Given the description of an element on the screen output the (x, y) to click on. 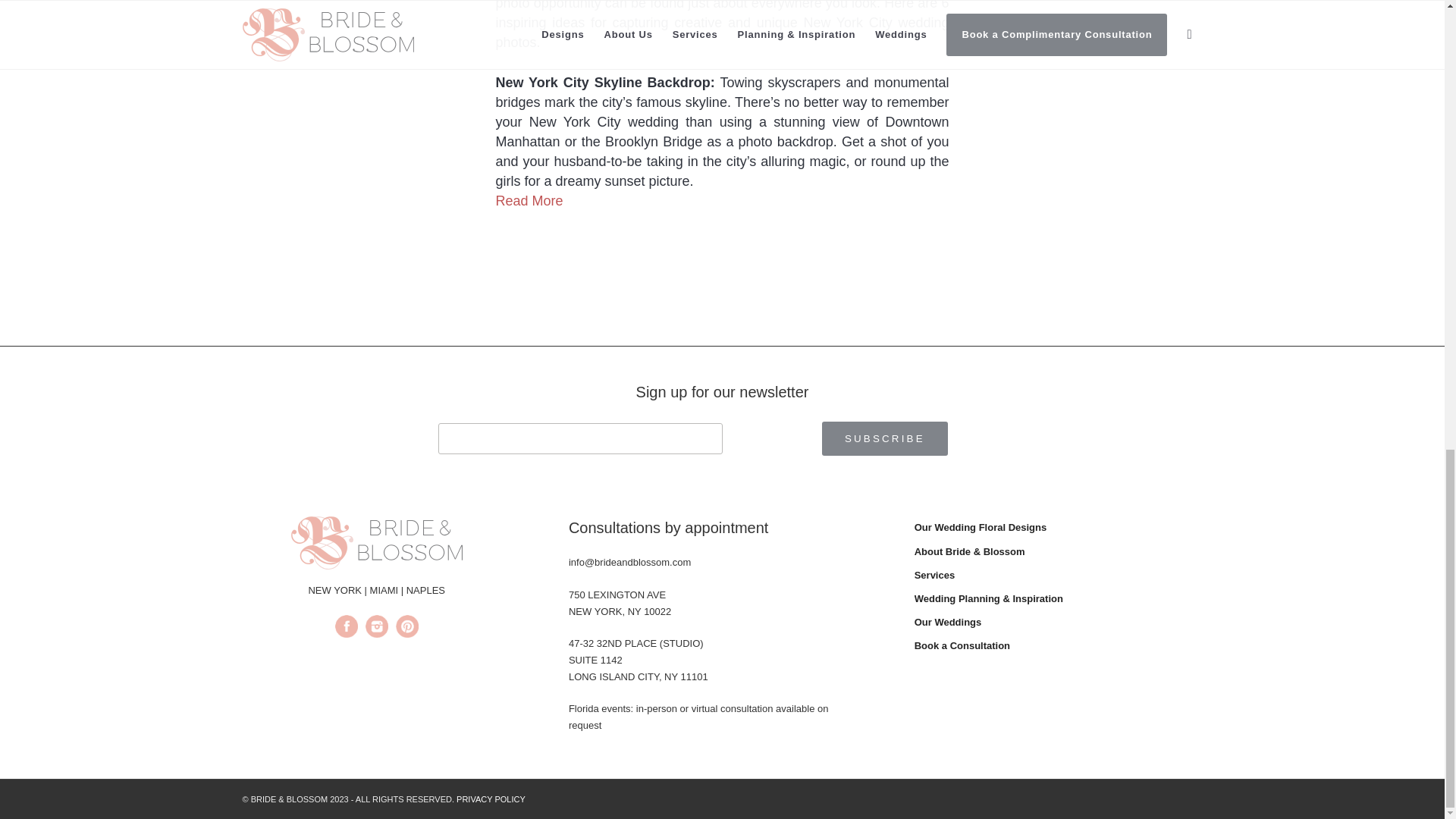
Subscribe (884, 438)
Pinterest (407, 628)
Read More (529, 200)
Facebook (346, 628)
Our Weddings (1058, 622)
Instagram (376, 628)
Book a Consultation (1058, 646)
Services (1058, 576)
PRIVACY POLICY (491, 798)
Subscribe (884, 438)
Our Wedding Floral Designs (1058, 527)
